Given the description of an element on the screen output the (x, y) to click on. 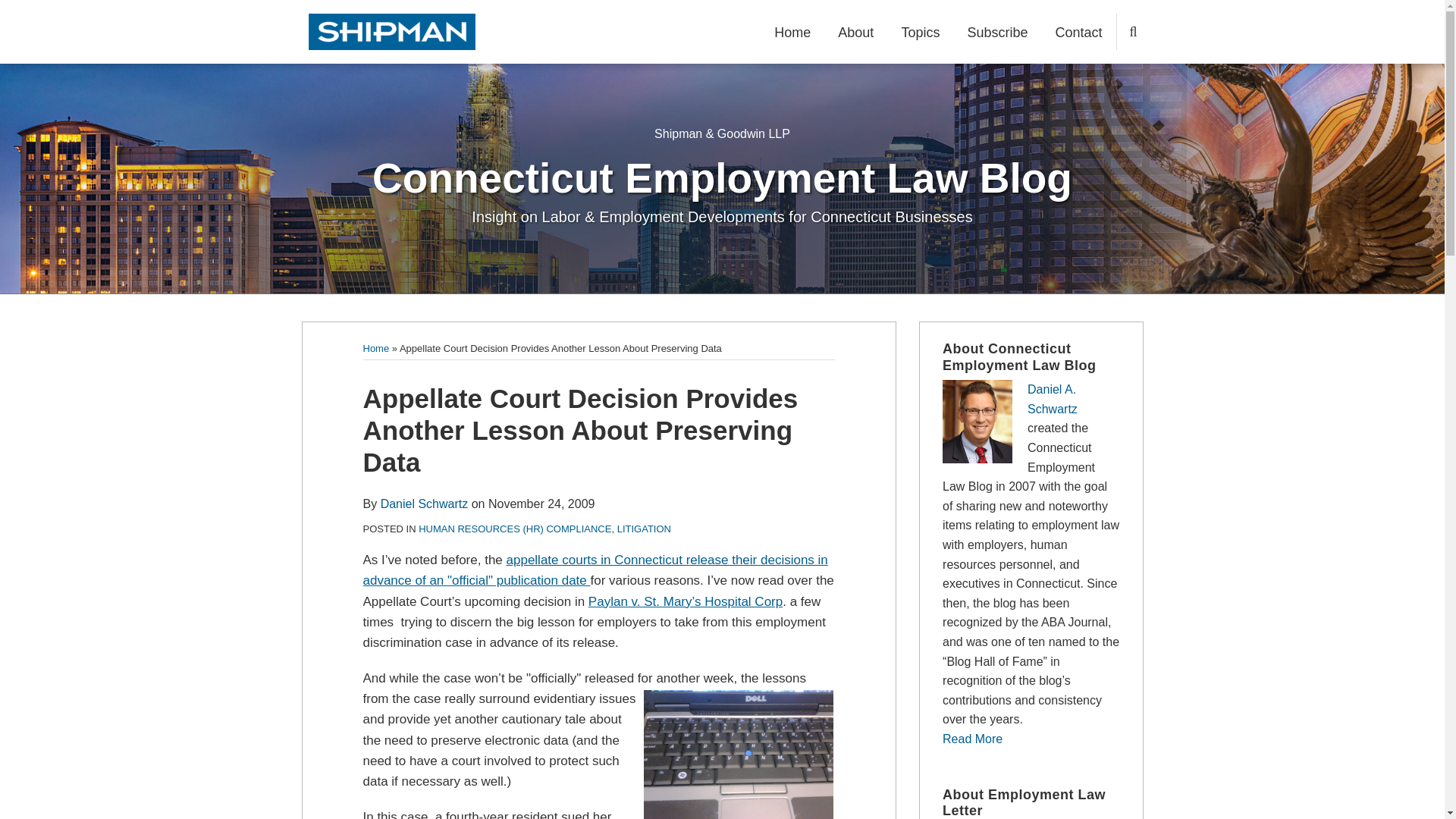
Home (792, 32)
Daniel Schwartz (424, 503)
Contact (1078, 32)
About (855, 32)
Topics (920, 32)
Connecticut Employment Law Blog (721, 177)
LITIGATION (644, 528)
Subscribe (996, 32)
Home (375, 348)
